Given the description of an element on the screen output the (x, y) to click on. 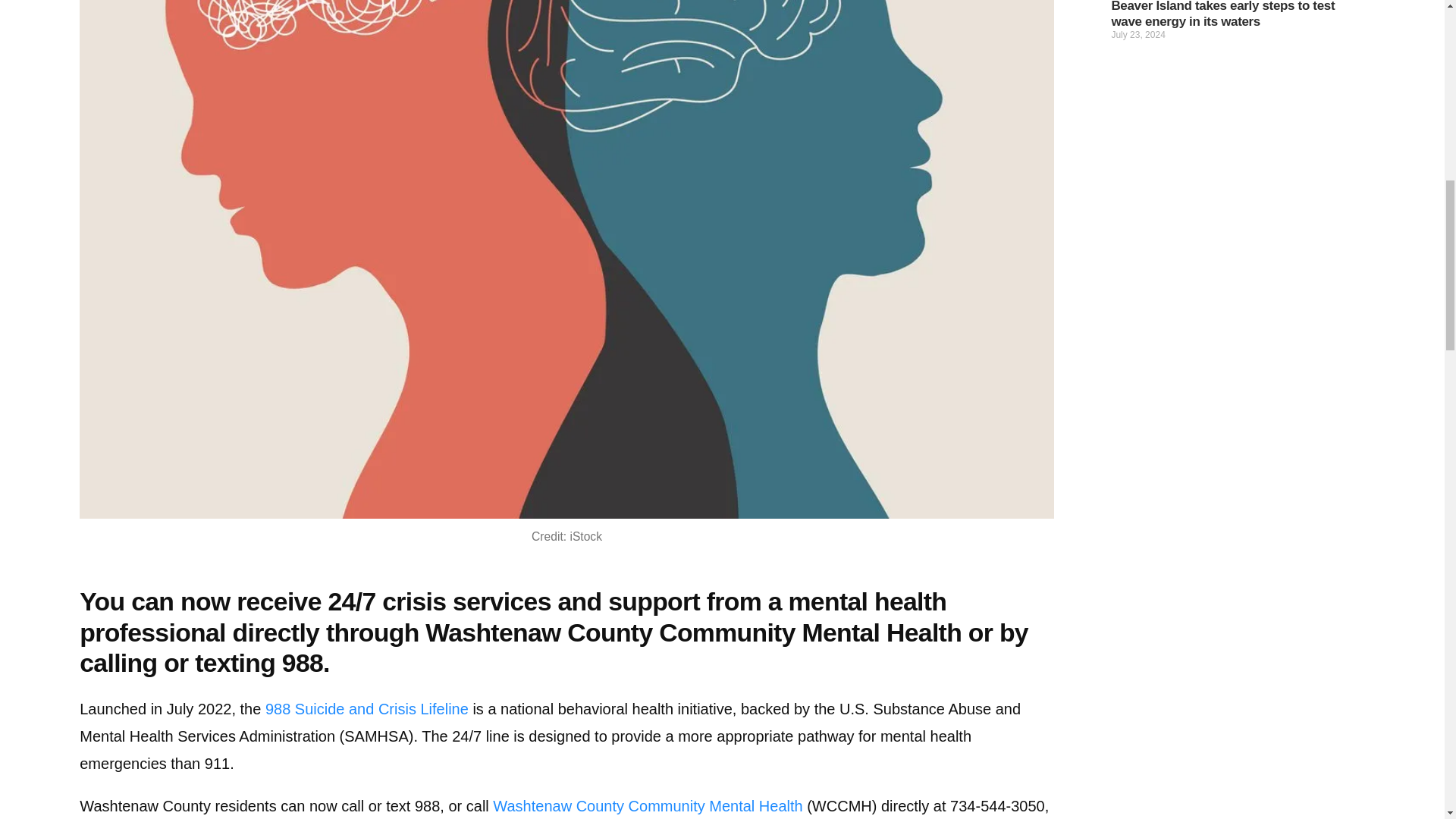
988 Suicide and Crisis Lifeline (366, 709)
Washtenaw County Community Mental Health (647, 805)
